Given the description of an element on the screen output the (x, y) to click on. 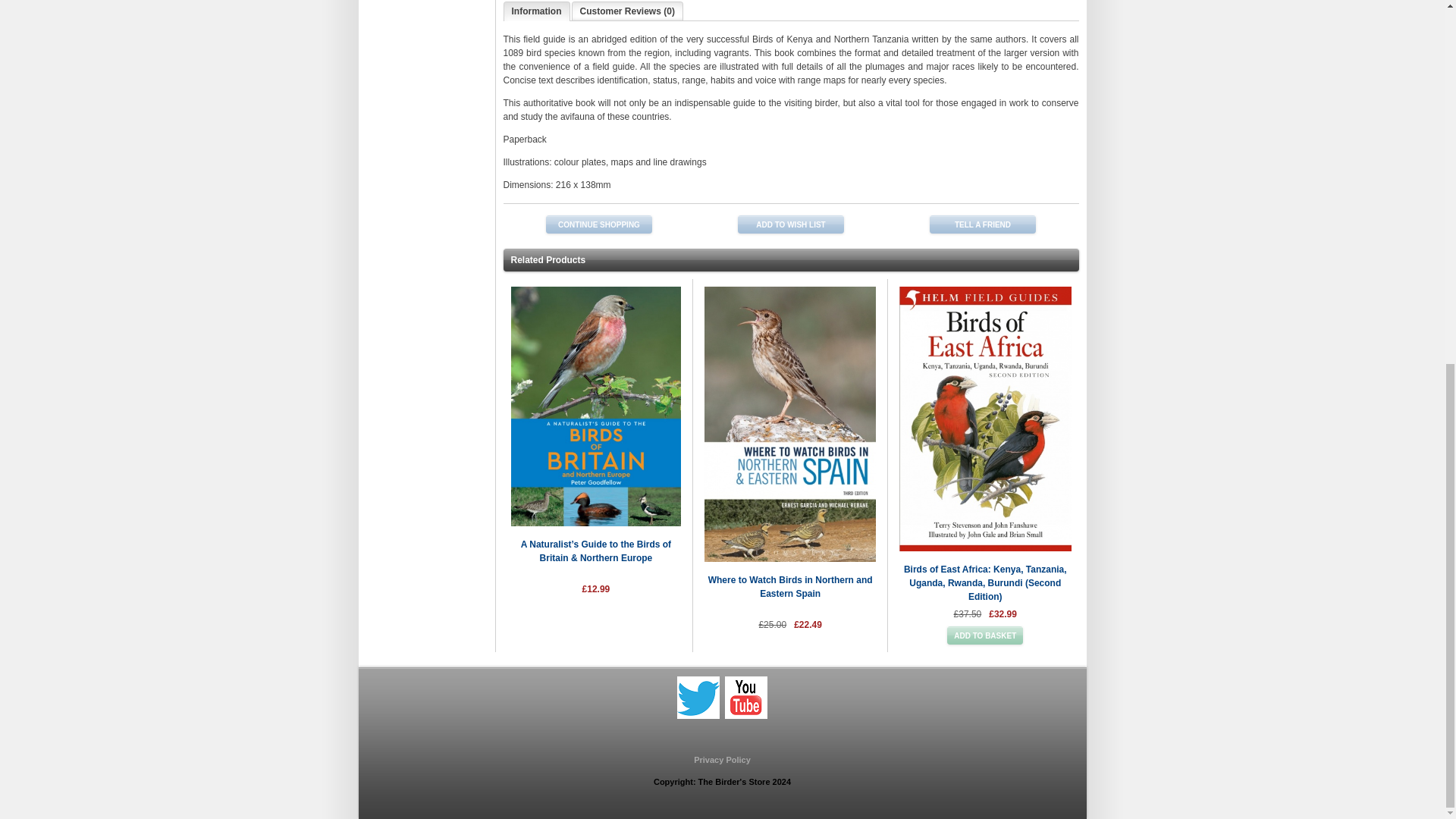
CONTINUE SHOPPING (599, 224)
TELL A FRIEND (982, 224)
Information (536, 11)
ADD TO WISH LIST (791, 224)
Where to Watch Birds in Northern and Eastern Spain (789, 586)
